Given the description of an element on the screen output the (x, y) to click on. 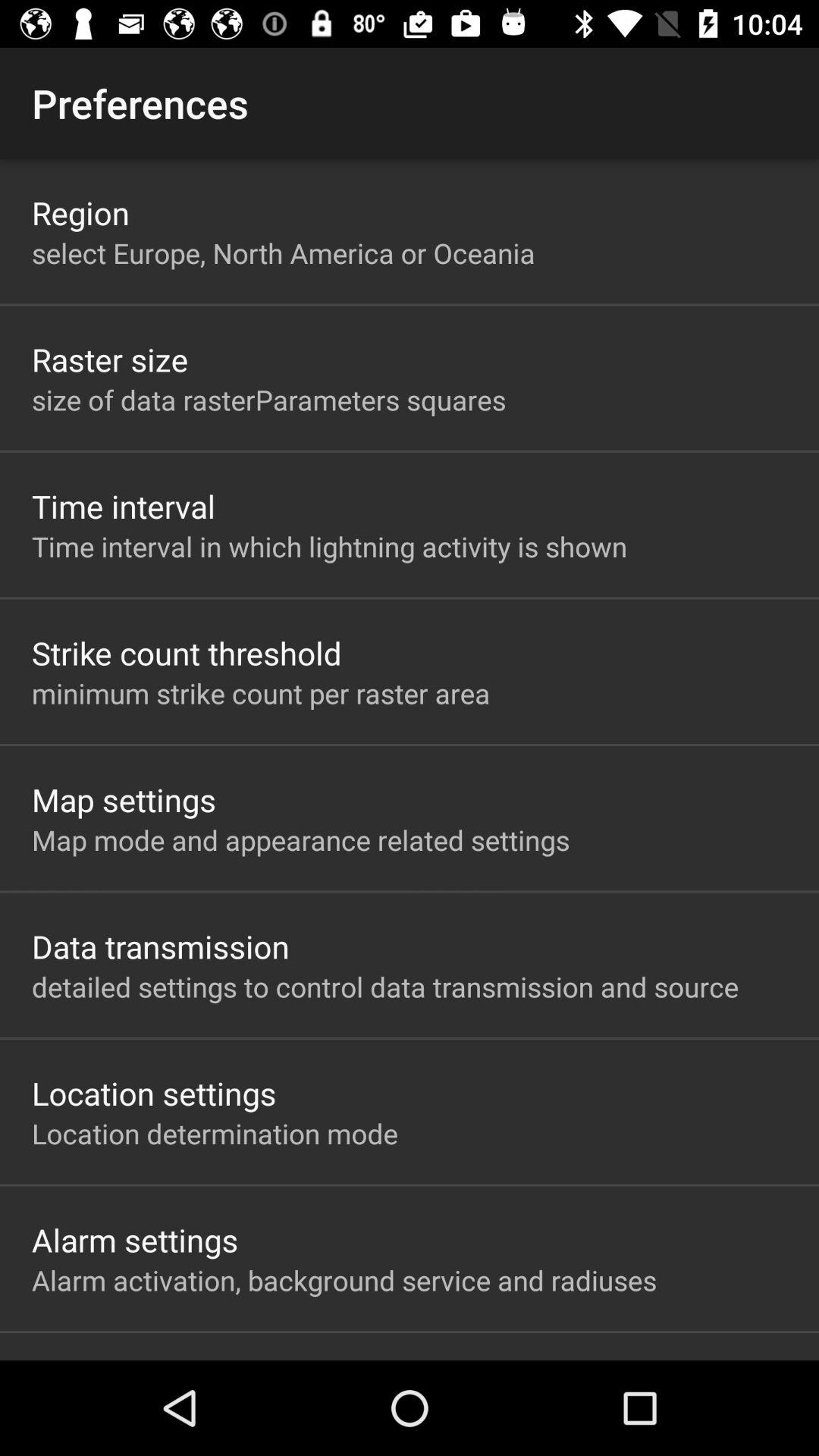
select detailed settings to item (384, 986)
